Given the description of an element on the screen output the (x, y) to click on. 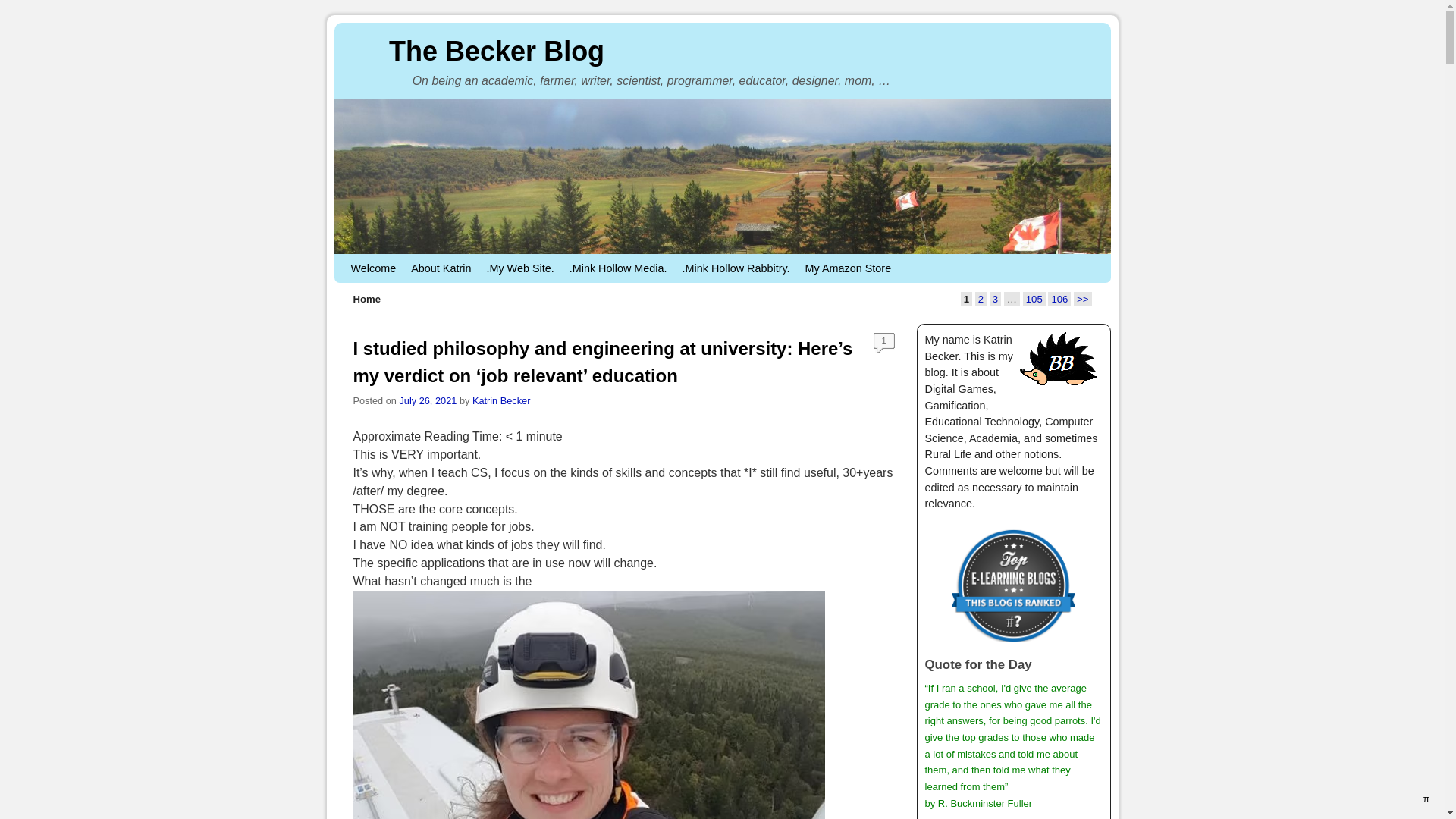
The Becker Blog Element type: text (496, 50)
Katrin Becker Element type: text (501, 400)
.Mink Hollow Rabbitry. Element type: text (735, 268)
.Mink Hollow Media. Element type: text (617, 268)
My Amazon Store Element type: text (848, 268)
1 Element type: text (883, 342)
July 26, 2021 Element type: text (427, 400)
.My Web Site. Element type: text (519, 268)
Skip to secondary content Element type: text (385, 260)
Skip to primary content Element type: text (379, 260)
2 Element type: text (980, 298)
Welcome Element type: text (372, 268)
>> Element type: text (1082, 298)
105 Element type: text (1033, 298)
About Katrin Element type: text (440, 268)
106 Element type: text (1059, 298)
3 Element type: text (995, 298)
